Given the description of an element on the screen output the (x, y) to click on. 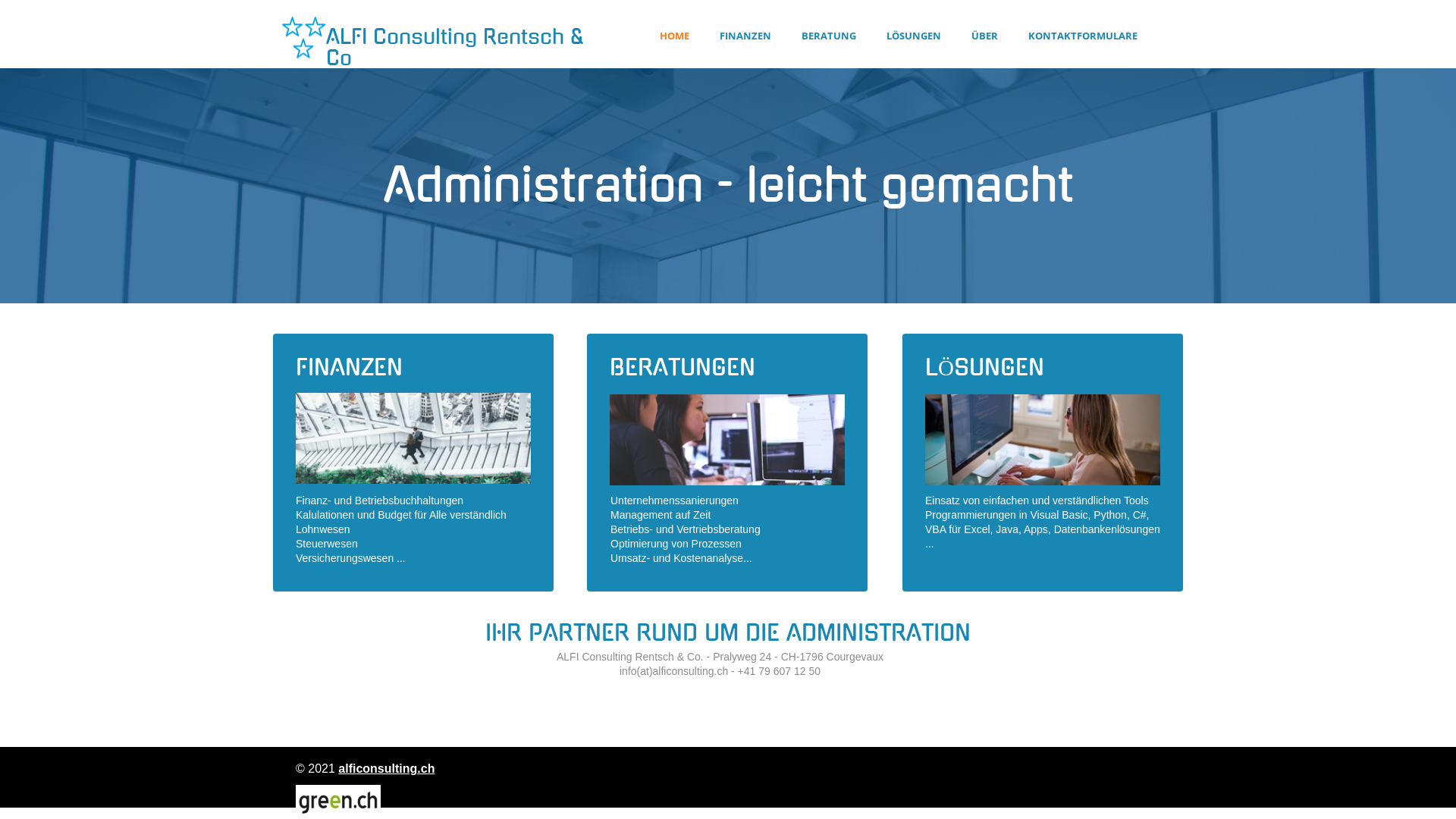
BERATUNG Element type: text (828, 35)
KONTAKTFORMULARE Element type: text (1082, 35)
alficonsulting.ch Element type: text (386, 768)
HOME Element type: text (674, 35)
FINANZEN Element type: text (745, 35)
